Given the description of an element on the screen output the (x, y) to click on. 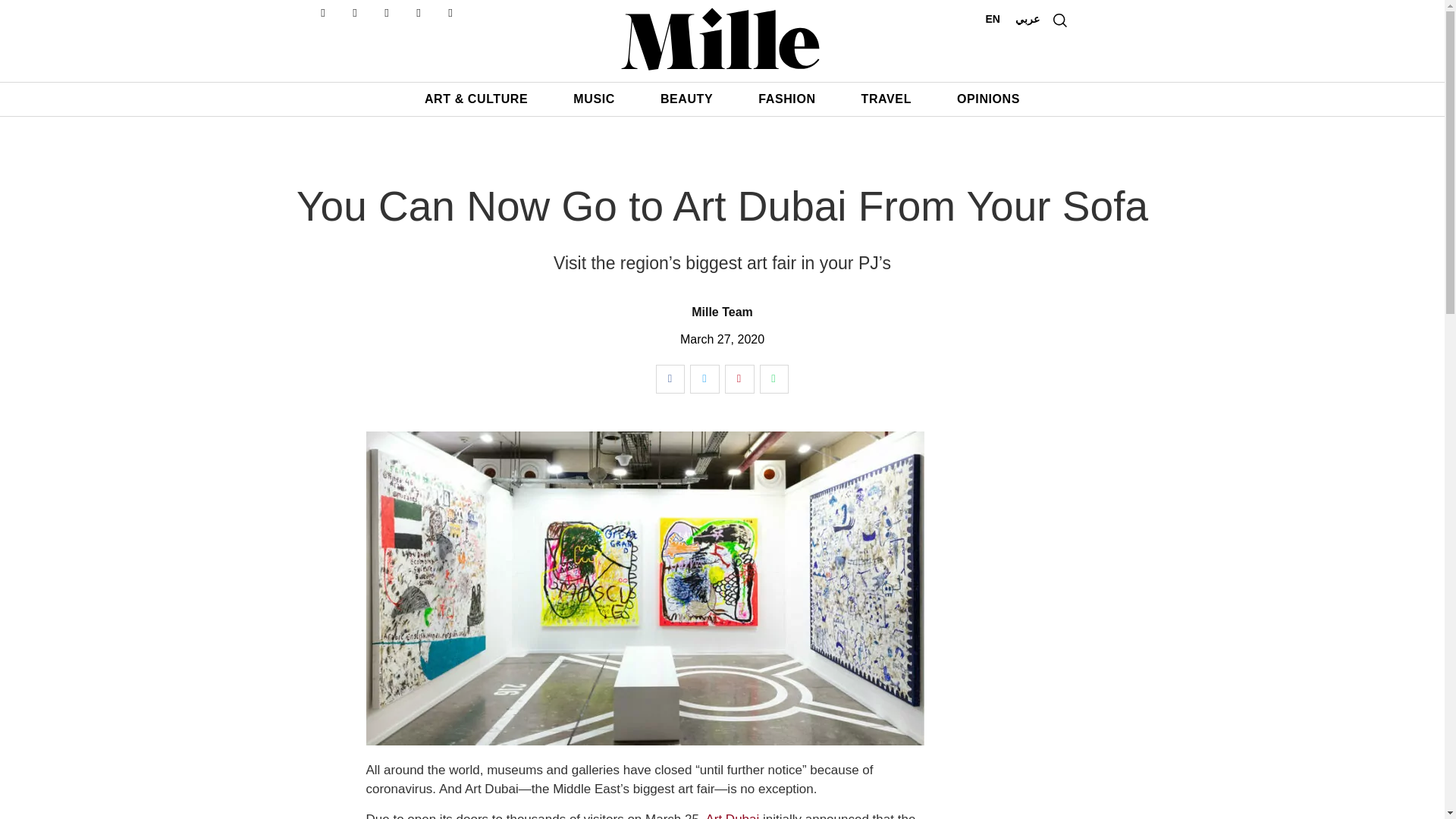
MUSIC (593, 99)
OPINIONS (988, 99)
TRAVEL (886, 99)
FASHION (786, 99)
Mille Team (721, 311)
BEAUTY (687, 99)
EN (992, 18)
